Given the description of an element on the screen output the (x, y) to click on. 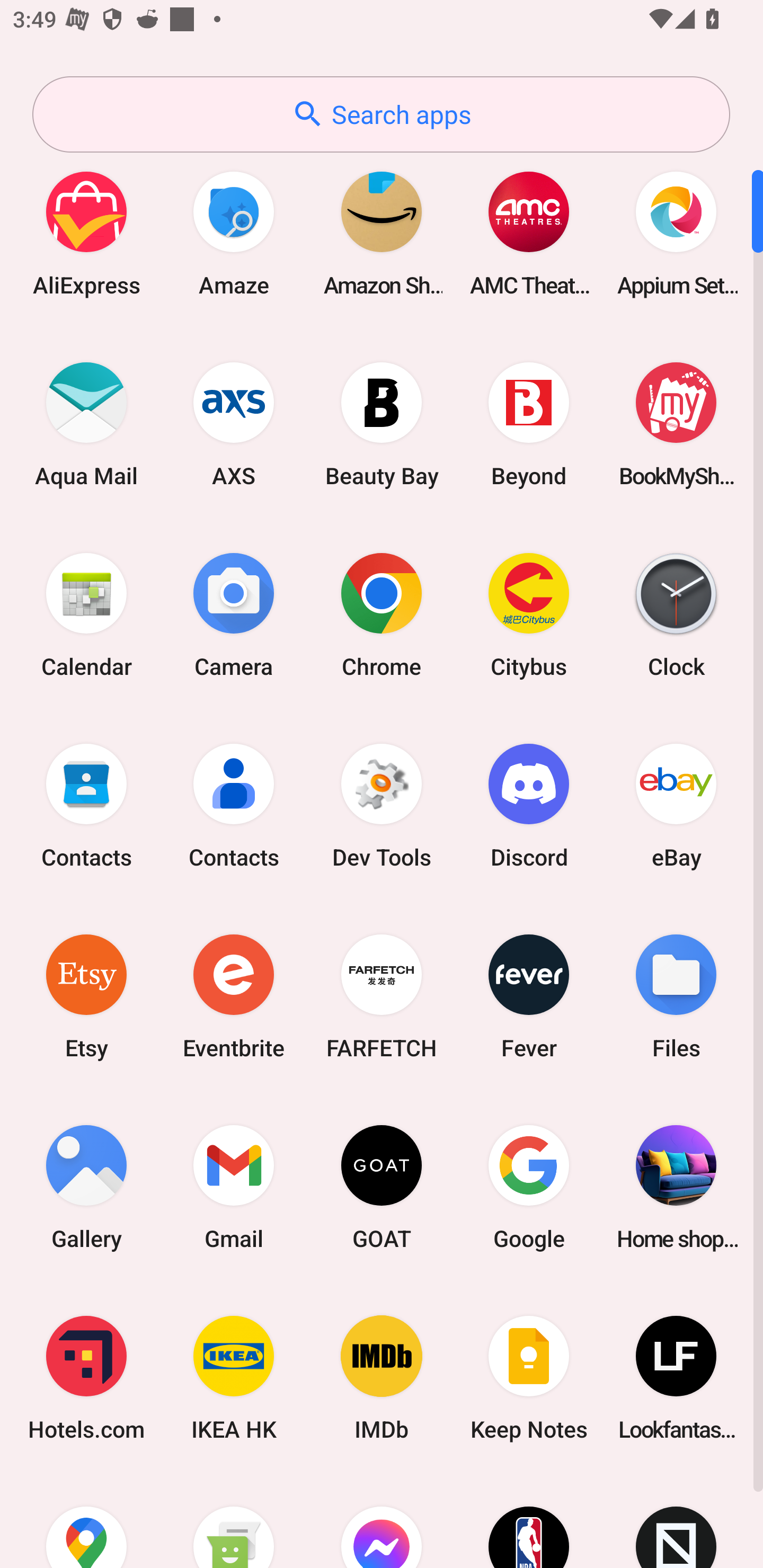
  Search apps (381, 114)
AliExpress (86, 233)
Amaze (233, 233)
Amazon Shopping (381, 233)
AMC Theatres (528, 233)
Appium Settings (676, 233)
Aqua Mail (86, 424)
AXS (233, 424)
Beauty Bay (381, 424)
Beyond (528, 424)
BookMyShow (676, 424)
Calendar (86, 614)
Camera (233, 614)
Chrome (381, 614)
Citybus (528, 614)
Clock (676, 614)
Contacts (86, 805)
Contacts (233, 805)
Dev Tools (381, 805)
Discord (528, 805)
eBay (676, 805)
Etsy (86, 996)
Eventbrite (233, 996)
FARFETCH (381, 996)
Fever (528, 996)
Files (676, 996)
Gallery (86, 1186)
Gmail (233, 1186)
GOAT (381, 1186)
Google (528, 1186)
Home shopping (676, 1186)
Hotels.com (86, 1377)
IKEA HK (233, 1377)
IMDb (381, 1377)
Keep Notes (528, 1377)
Lookfantastic (676, 1377)
Maps (86, 1520)
Messaging (233, 1520)
Messenger (381, 1520)
NBA (528, 1520)
Novelship (676, 1520)
